Given the description of an element on the screen output the (x, y) to click on. 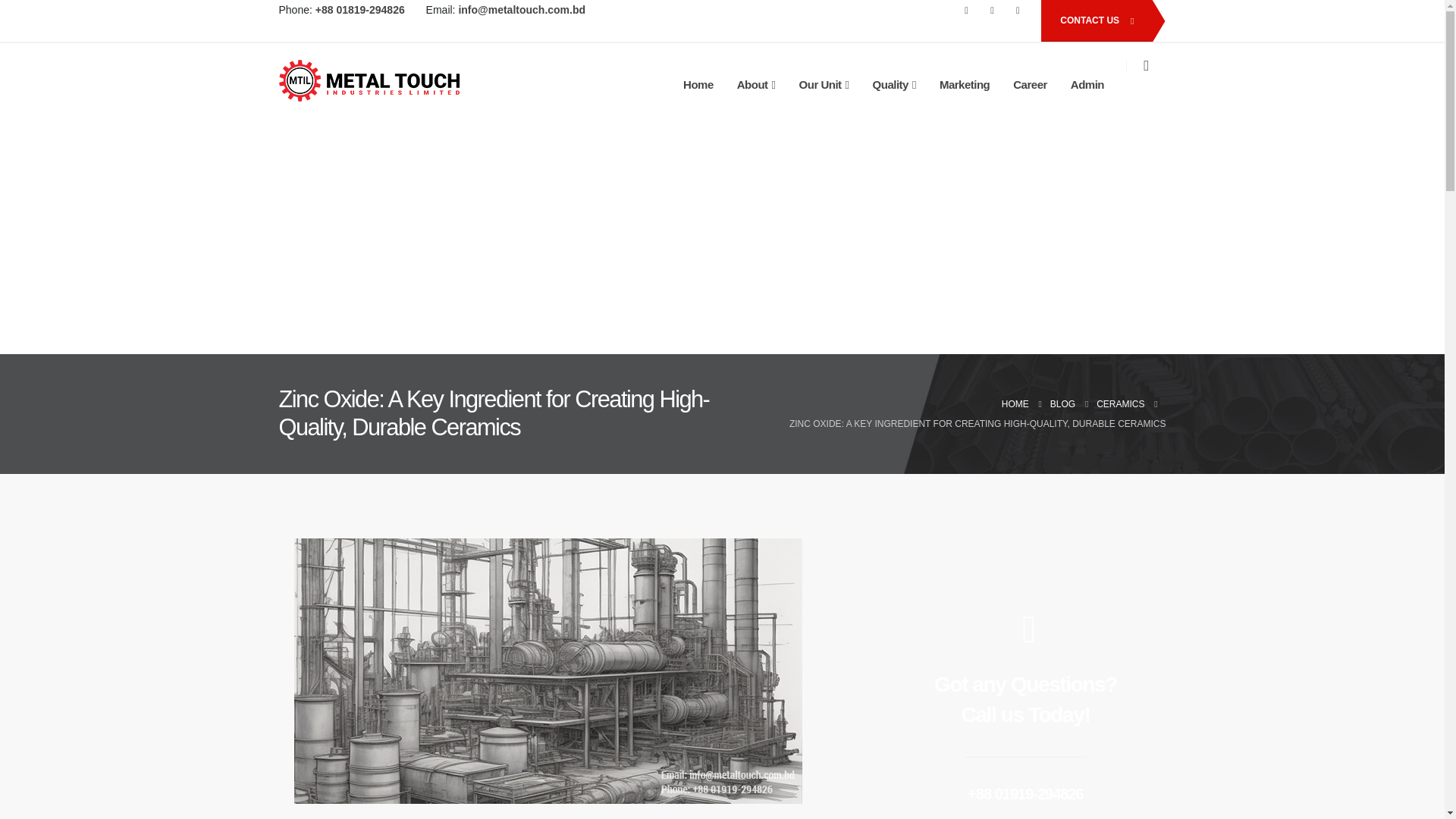
HOME (1015, 403)
CONTACT US (1095, 20)
Admin (1087, 84)
Twitter (992, 10)
Quality (894, 84)
Facebook (966, 10)
Instagram (1017, 10)
Go to Home Page (1015, 403)
Career (1029, 84)
Our Unit (823, 84)
BLOG (1062, 403)
Marketing (964, 84)
About (756, 84)
